Given the description of an element on the screen output the (x, y) to click on. 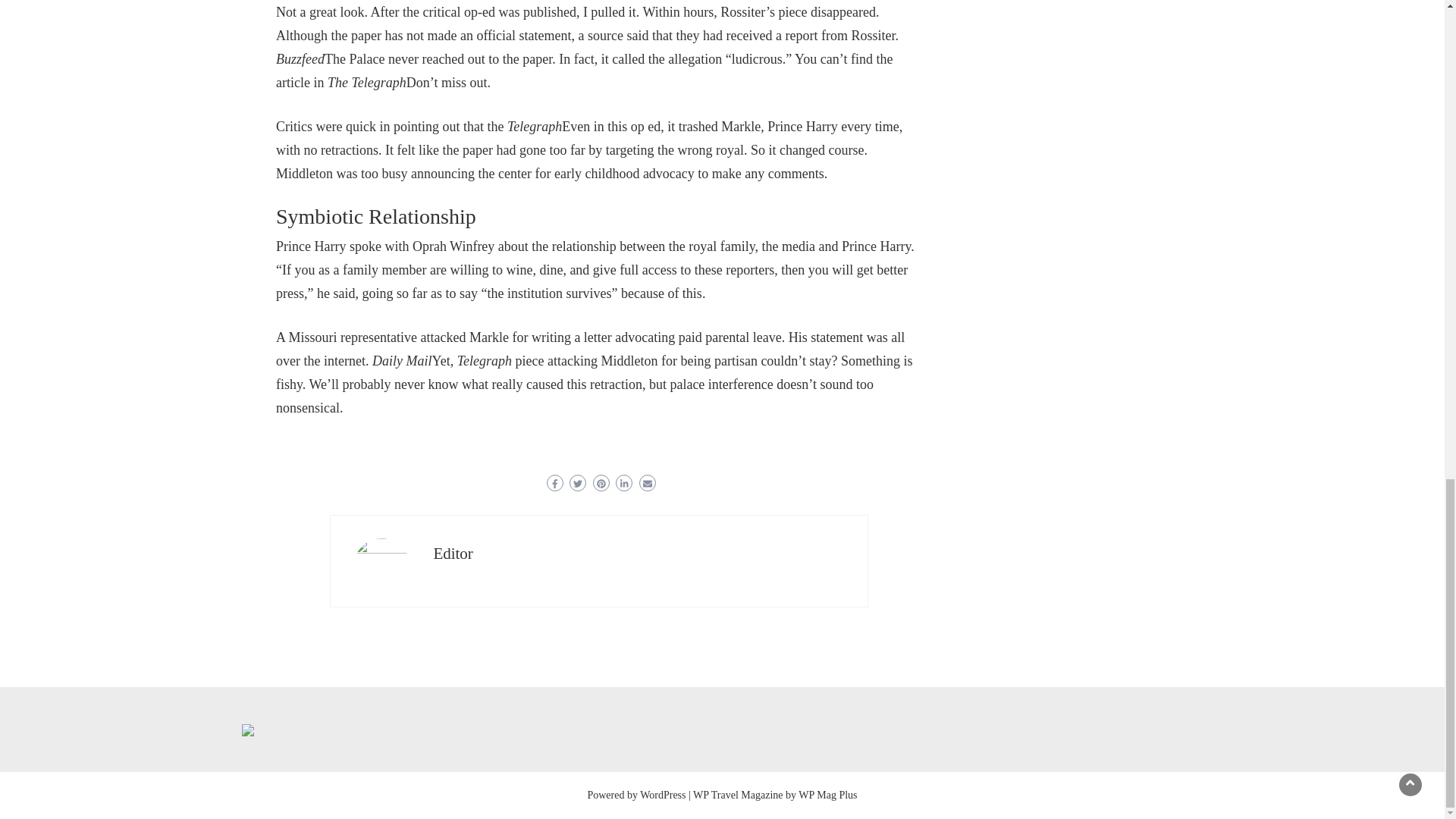
WP Travel Magazine by WP Mag Plus (775, 794)
WordPress (662, 794)
Editor (452, 553)
